Given the description of an element on the screen output the (x, y) to click on. 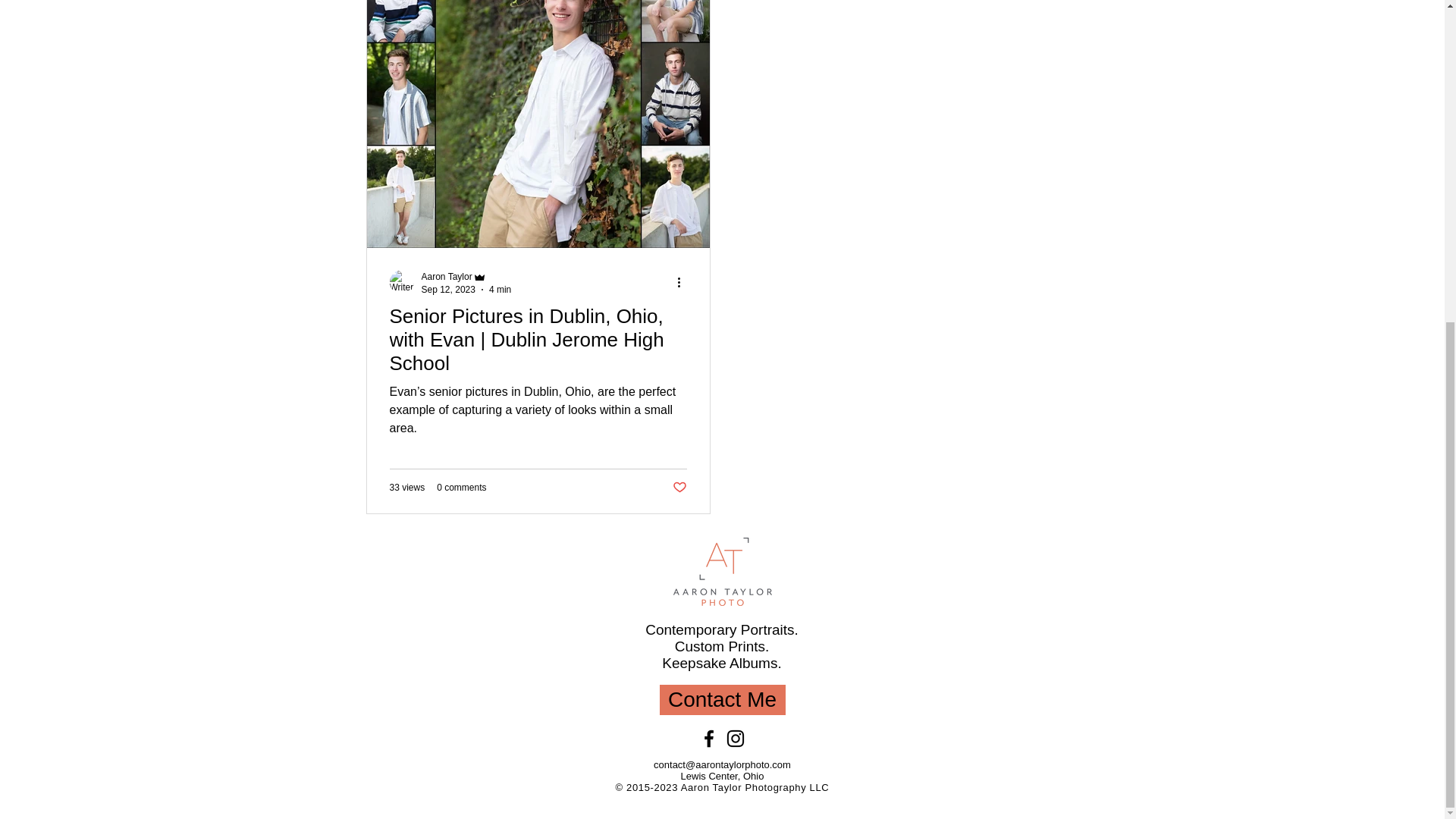
Sep 12, 2023 (449, 288)
Aaron Taylor (446, 276)
0 comments (461, 487)
Contact Me (722, 699)
Post not marked as liked (678, 487)
4 min (500, 288)
Aaron Taylor (467, 277)
